Given the description of an element on the screen output the (x, y) to click on. 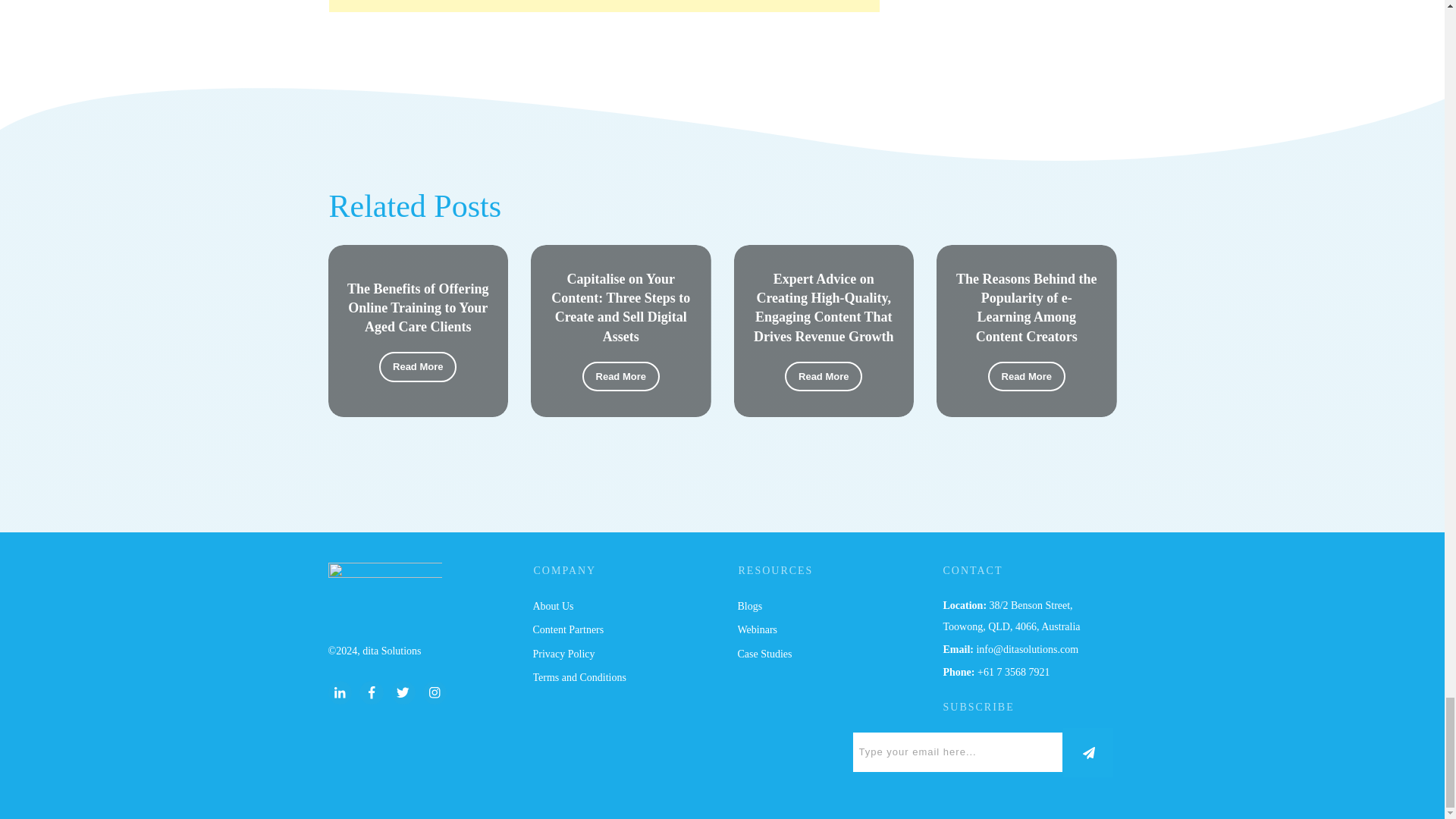
Content Partners (568, 629)
Read More (1026, 376)
Read More (620, 376)
Read More (417, 367)
Privacy Policy (563, 654)
